Given the description of an element on the screen output the (x, y) to click on. 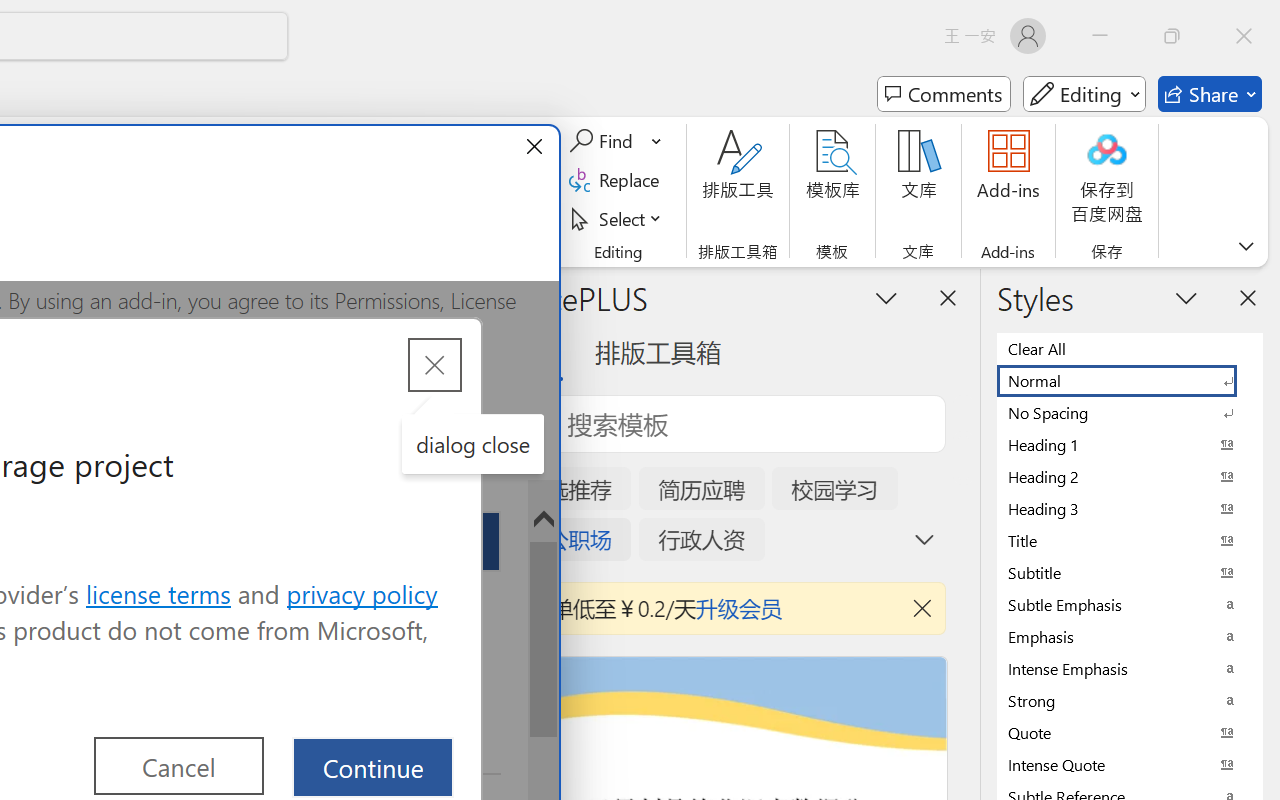
Quote (1130, 732)
Comments (943, 94)
Emphasis (1130, 636)
Minimize (1099, 36)
No Spacing (1130, 412)
Normal (1130, 380)
Task Pane Options (886, 297)
Strong (1130, 700)
Subtitle (1130, 572)
